Given the description of an element on the screen output the (x, y) to click on. 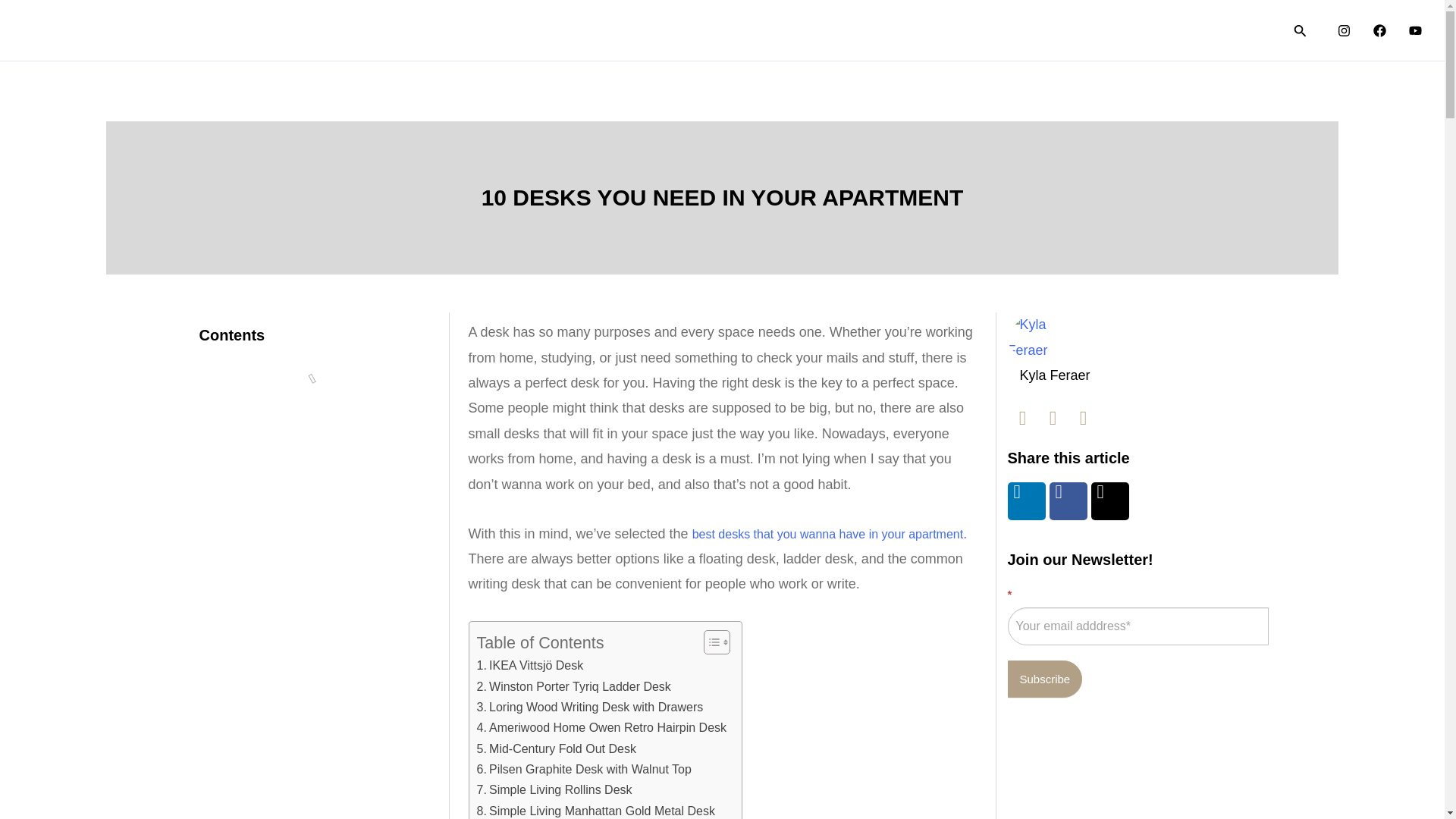
Search (1299, 30)
Ameriwood Home Owen Retro Hairpin Desk (601, 727)
Simple Living Manhattan Gold Metal Desk (595, 810)
Loring Wood Writing Desk with Drawers (589, 707)
Mid-Century Fold Out Desk (555, 749)
Winston Porter Tyriq Ladder Desk (572, 686)
Winston Porter Tyriq Ladder Desk (572, 686)
Ameriwood Home Owen Retro Hairpin Desk (601, 727)
Simple Living Rollins Desk (553, 790)
best desks that you wanna have in your apartment (828, 533)
Simple Living Rollins Desk (553, 790)
LOOK GOOD (887, 30)
Pilsen Graphite Desk with Walnut Top (583, 769)
Mid-Century Fold Out Desk (555, 749)
Pilsen Graphite Desk with Walnut Top (583, 769)
